Given the description of an element on the screen output the (x, y) to click on. 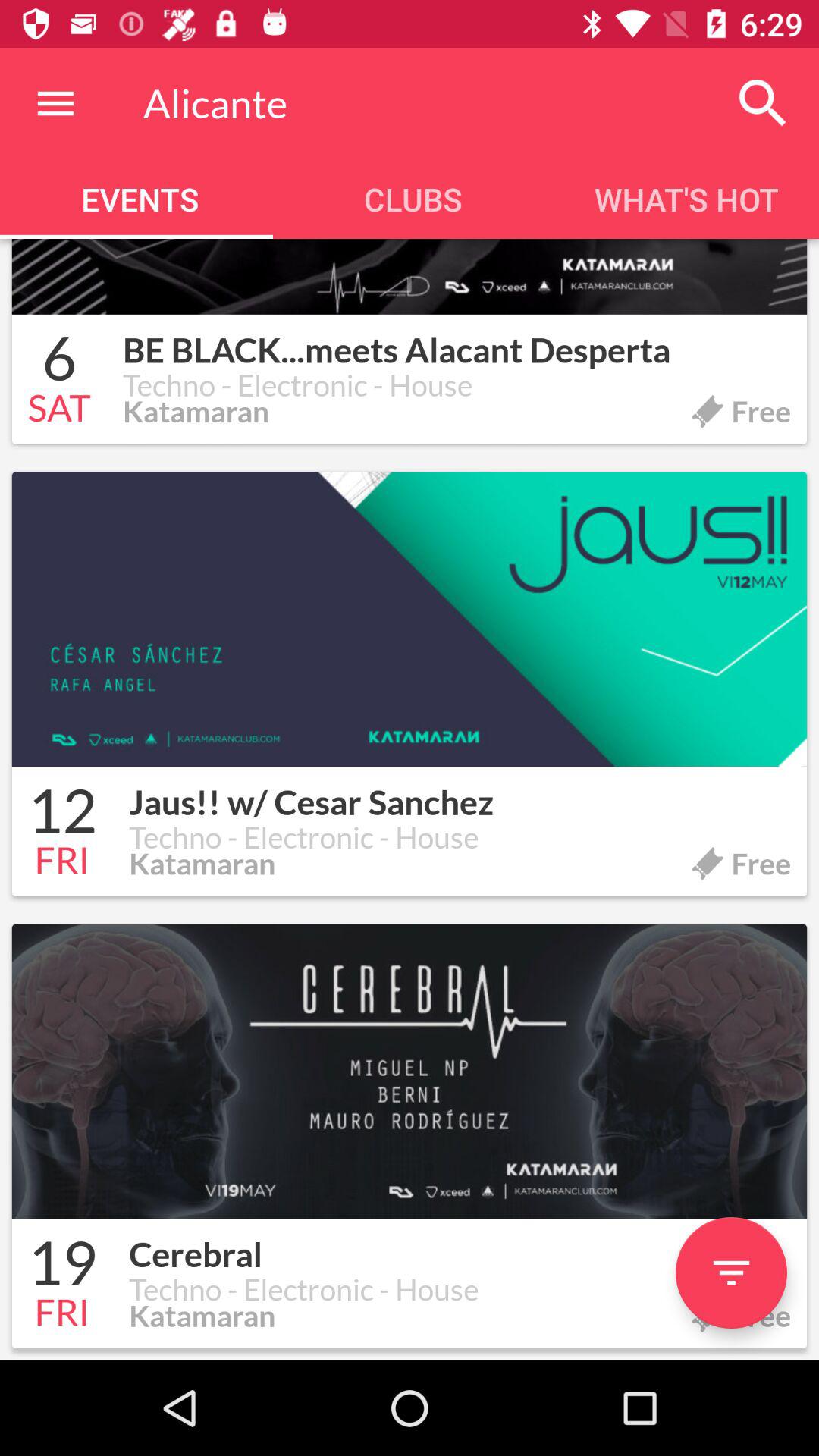
turn on item above fri icon (62, 1265)
